Given the description of an element on the screen output the (x, y) to click on. 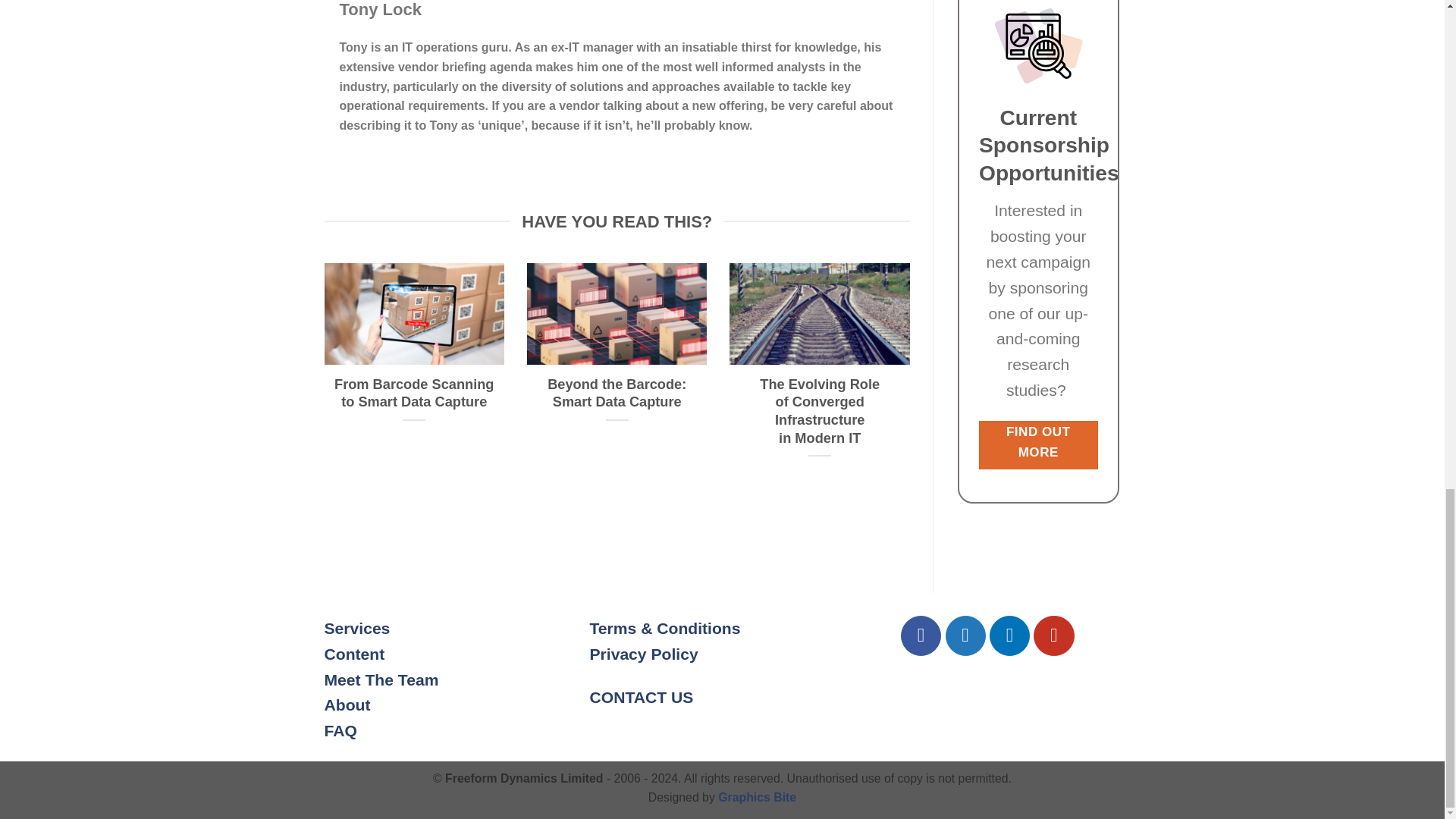
Follow on Twitter (964, 635)
Follow on YouTube (1053, 635)
Follow on LinkedIn (1009, 635)
Tony Lock (380, 9)
Follow on Facebook (920, 635)
